Given the description of an element on the screen output the (x, y) to click on. 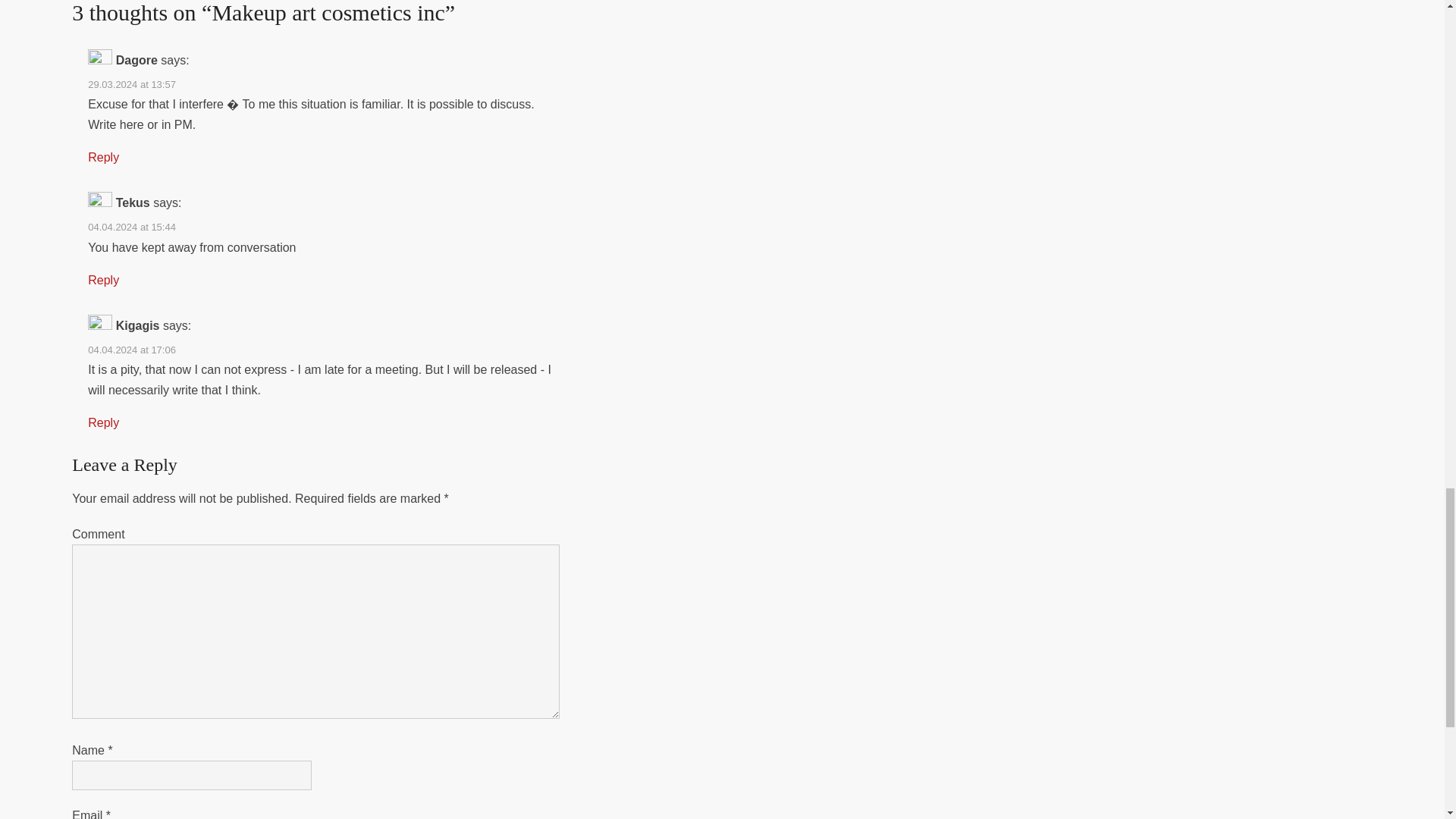
Reply (103, 422)
Reply (103, 156)
04.04.2024 at 15:44 (131, 226)
Reply (103, 279)
04.04.2024 at 17:06 (131, 349)
29.03.2024 at 13:57 (131, 84)
